Given the description of an element on the screen output the (x, y) to click on. 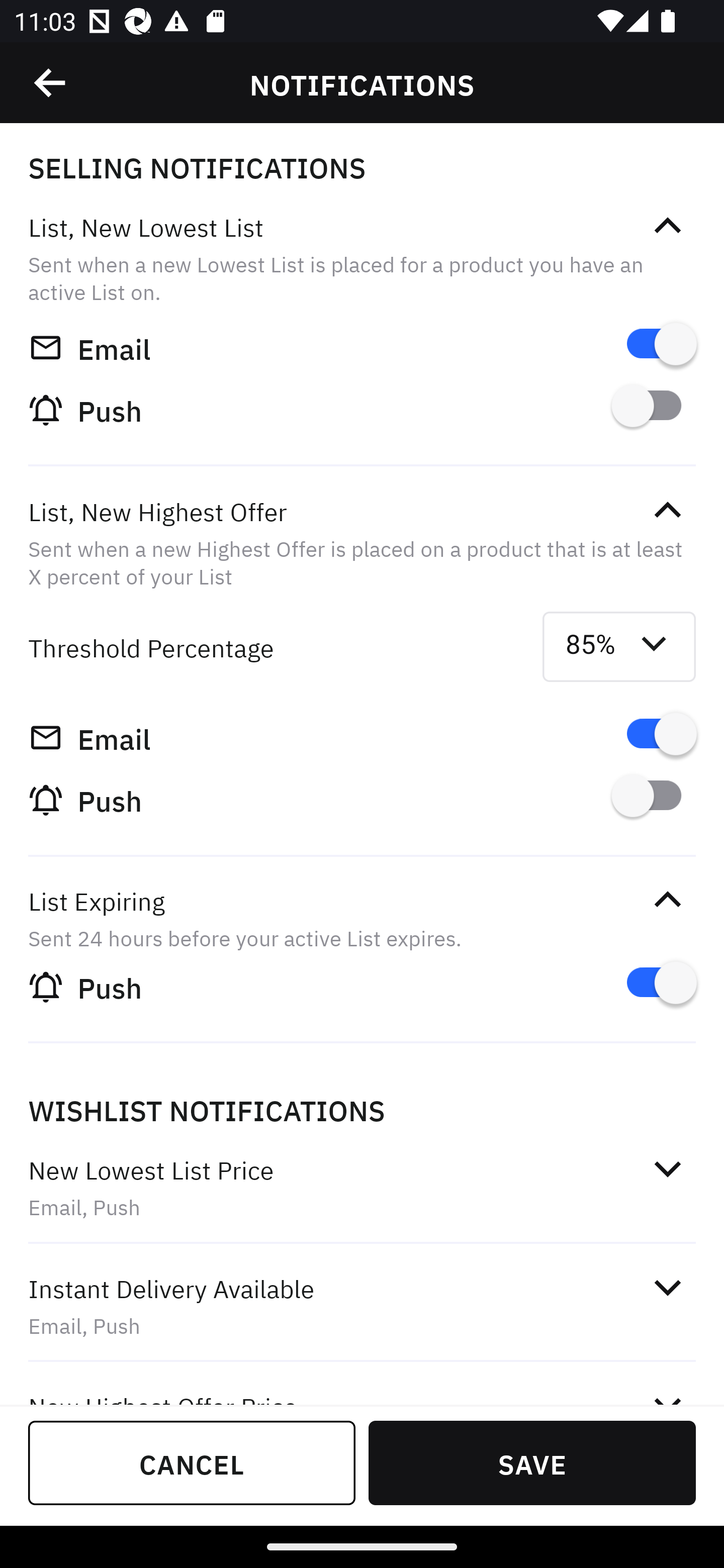
 (50, 83)
 (667, 226)
 (667, 510)
85%  (619, 646)
 (667, 899)
New Lowest List Price  Email, Push (361, 1188)
 (667, 1168)
Instant Delivery Available  Email, Push (361, 1306)
 (667, 1287)
CANCEL (191, 1462)
SAVE (531, 1462)
